Given the description of an element on the screen output the (x, y) to click on. 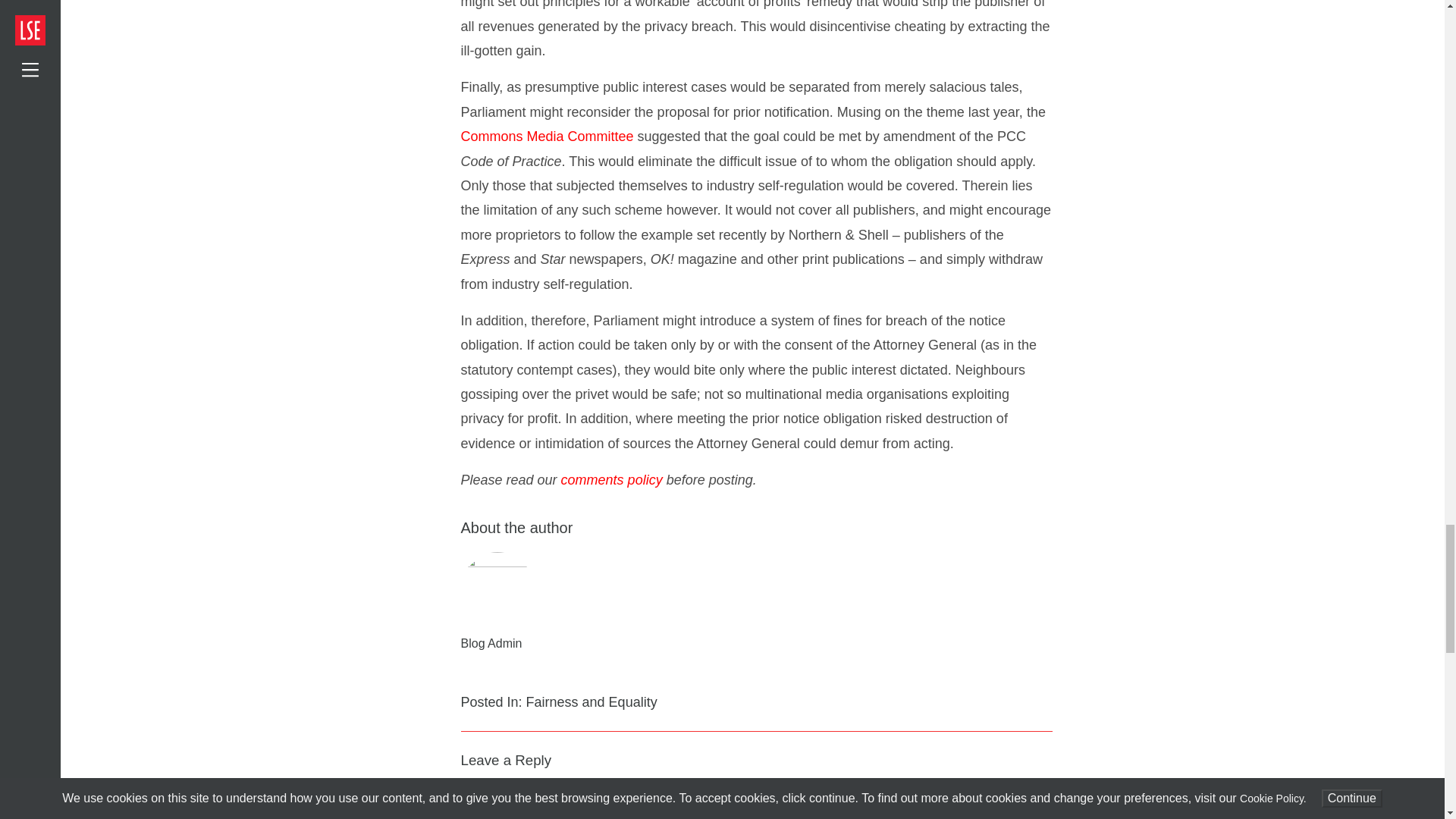
Commons Media Committee (547, 136)
